Given the description of an element on the screen output the (x, y) to click on. 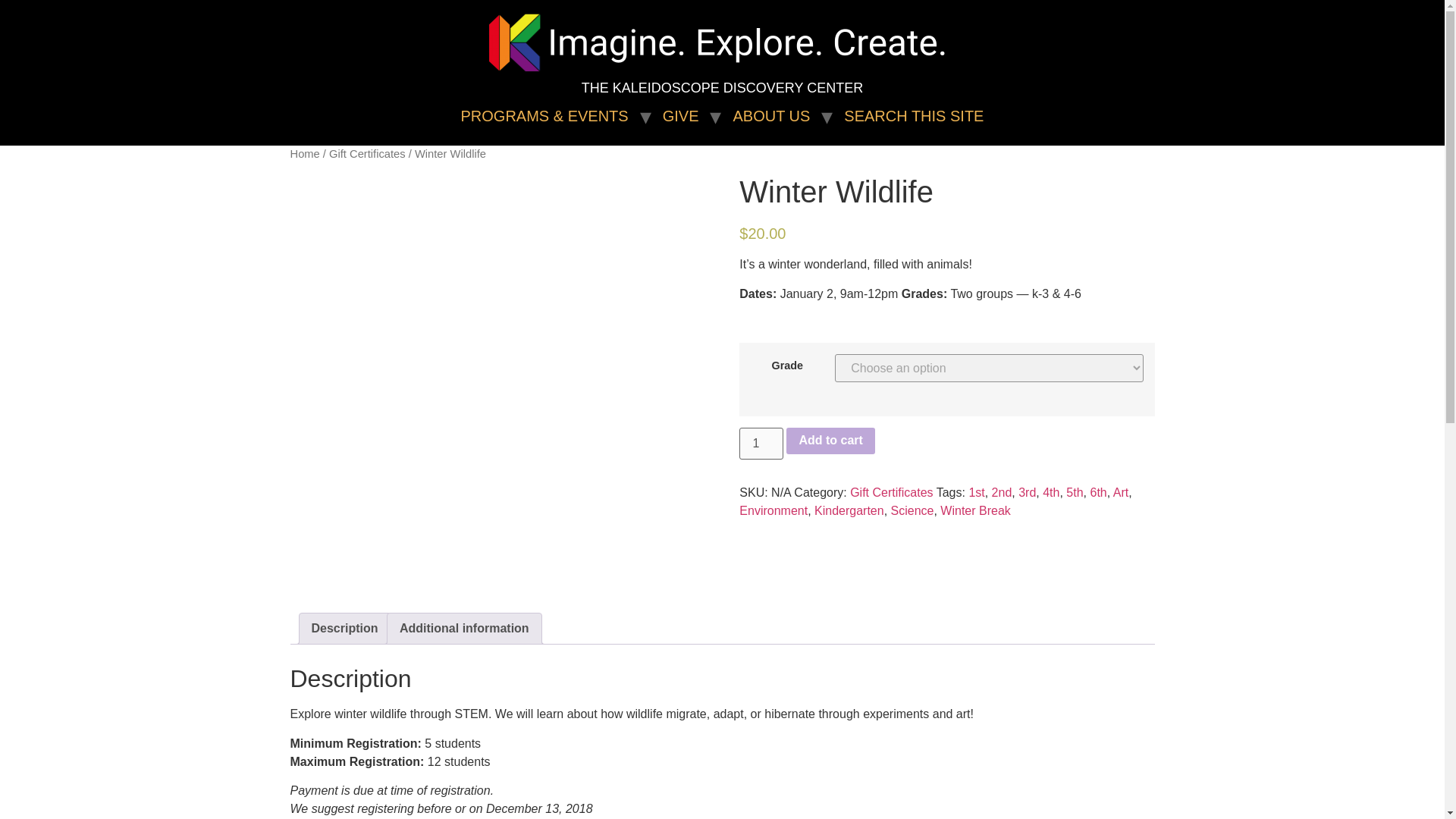
ABOUT US (770, 115)
1 (761, 443)
GIVE (680, 115)
SEARCH THIS SITE (913, 115)
